Given the description of an element on the screen output the (x, y) to click on. 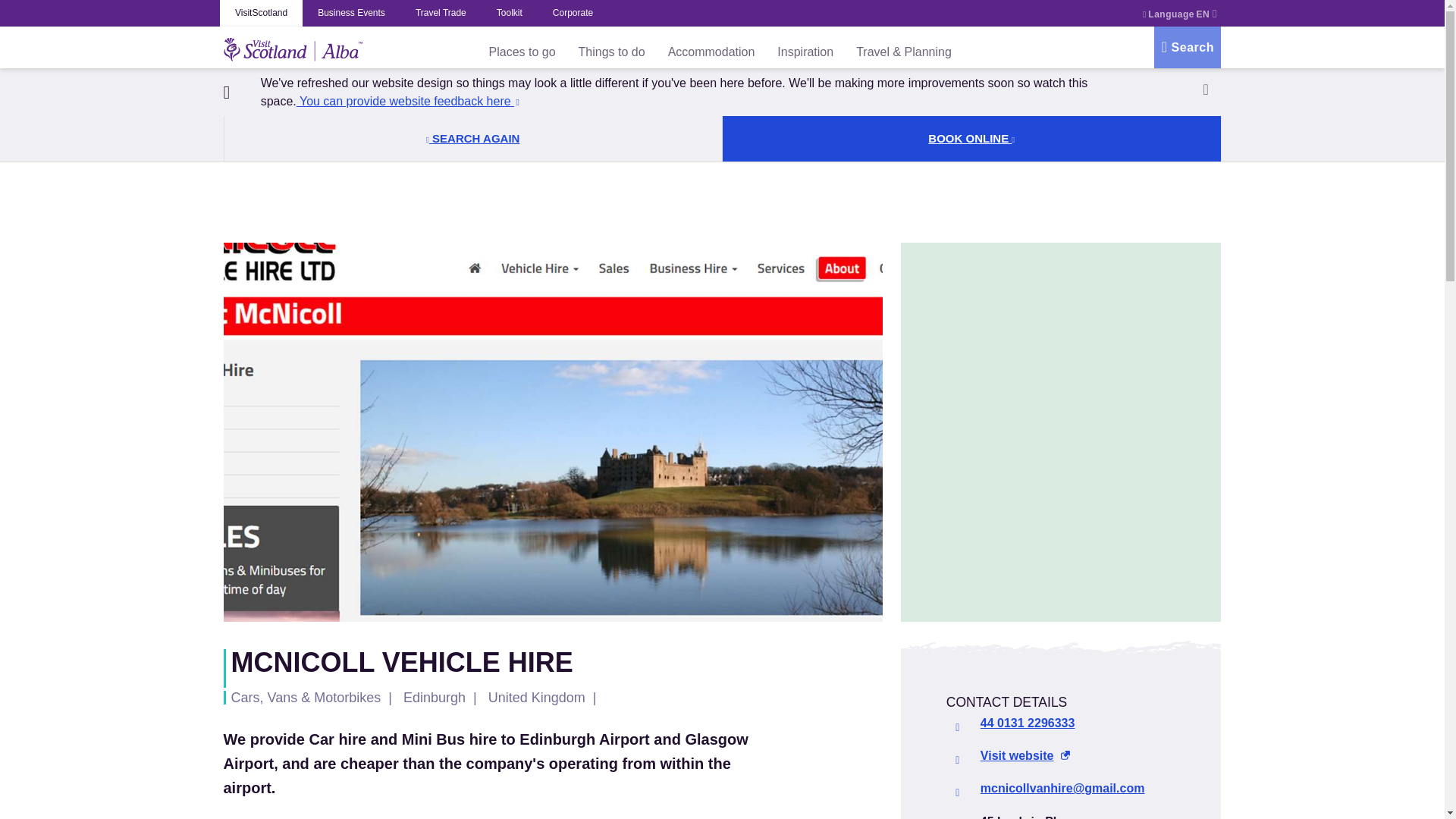
VisitScotland (260, 13)
Corporate (572, 13)
Toolkit (509, 13)
Places to go (521, 51)
Travel Trade (440, 13)
LanguageEN (1176, 13)
VisitScotland Home (292, 46)
Business Events (351, 13)
